Given the description of an element on the screen output the (x, y) to click on. 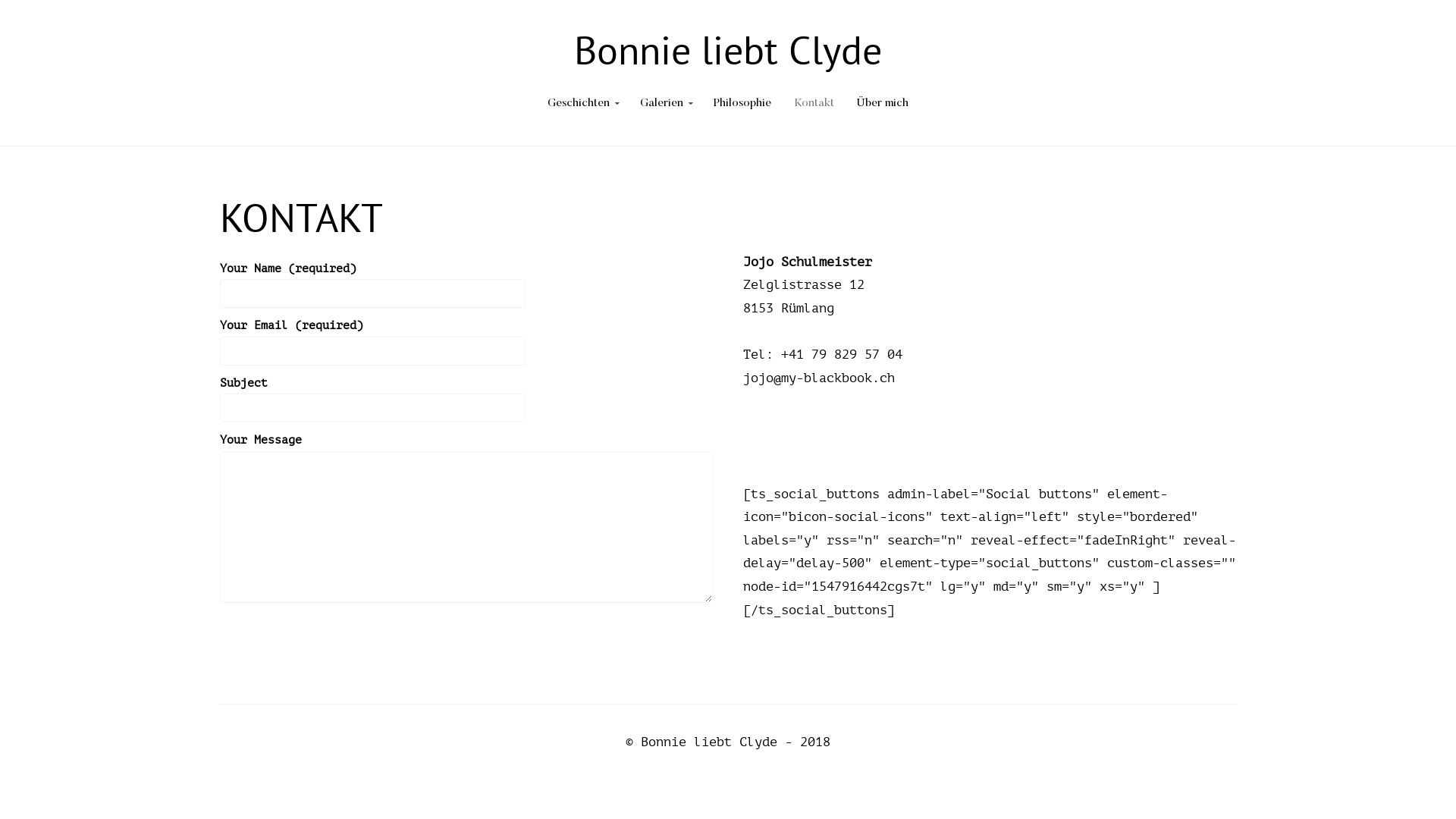
jojo@my-blackbook.ch Element type: text (818, 377)
Philosophie Element type: text (742, 103)
Kontakt Element type: text (813, 103)
Bonnie liebt Clyde Element type: text (727, 49)
Send Element type: text (253, 624)
Galerien Element type: text (665, 103)
Geschichten Element type: text (582, 103)
